Given the description of an element on the screen output the (x, y) to click on. 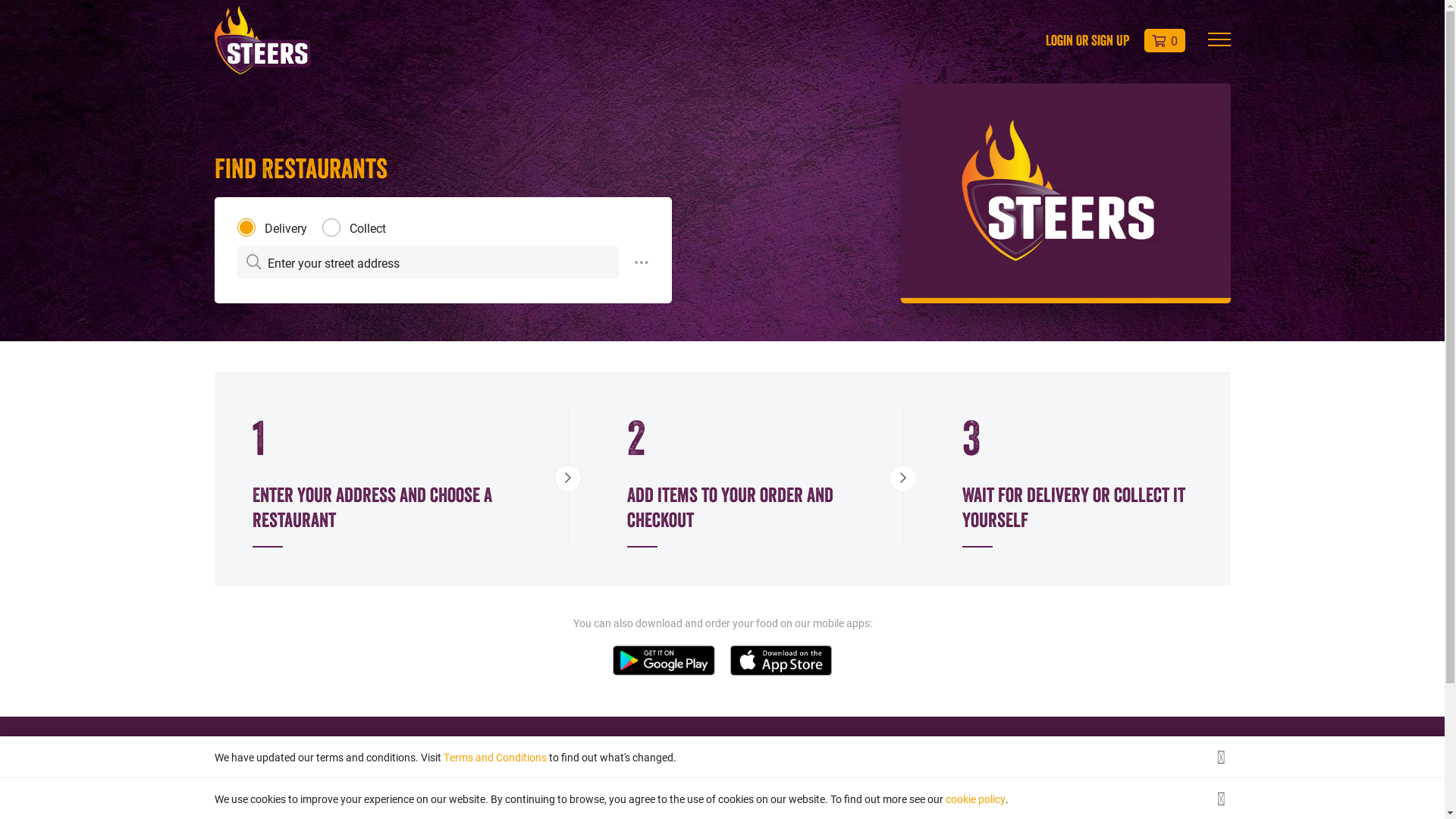
Terms and Conditions Element type: text (874, 793)
Help Element type: text (580, 793)
Francistown Element type: text (243, 793)
Terms and Conditions Element type: text (494, 756)
0 Element type: text (1163, 40)
cookie policy Element type: text (974, 798)
Login Or Sign Up Element type: text (1086, 40)
